Given the description of an element on the screen output the (x, y) to click on. 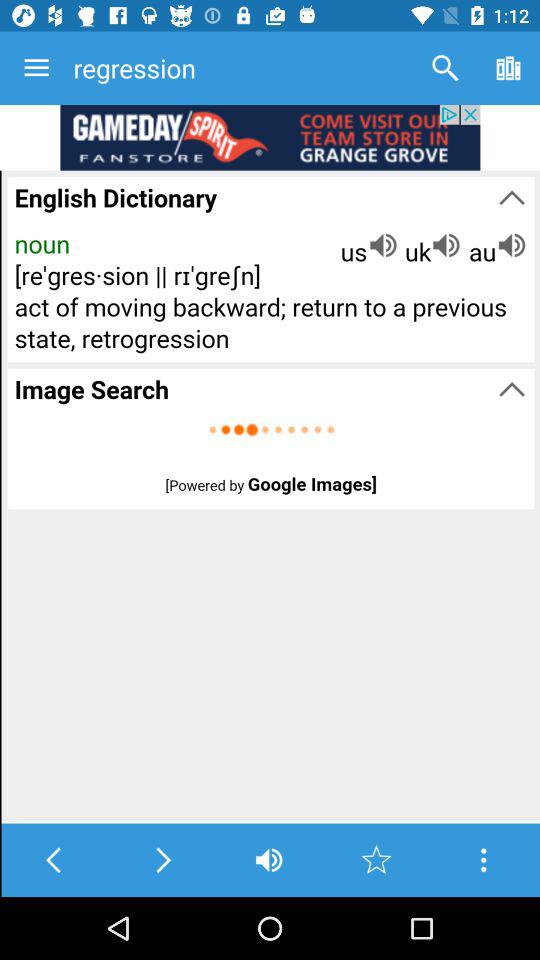
customize (483, 859)
